Given the description of an element on the screen output the (x, y) to click on. 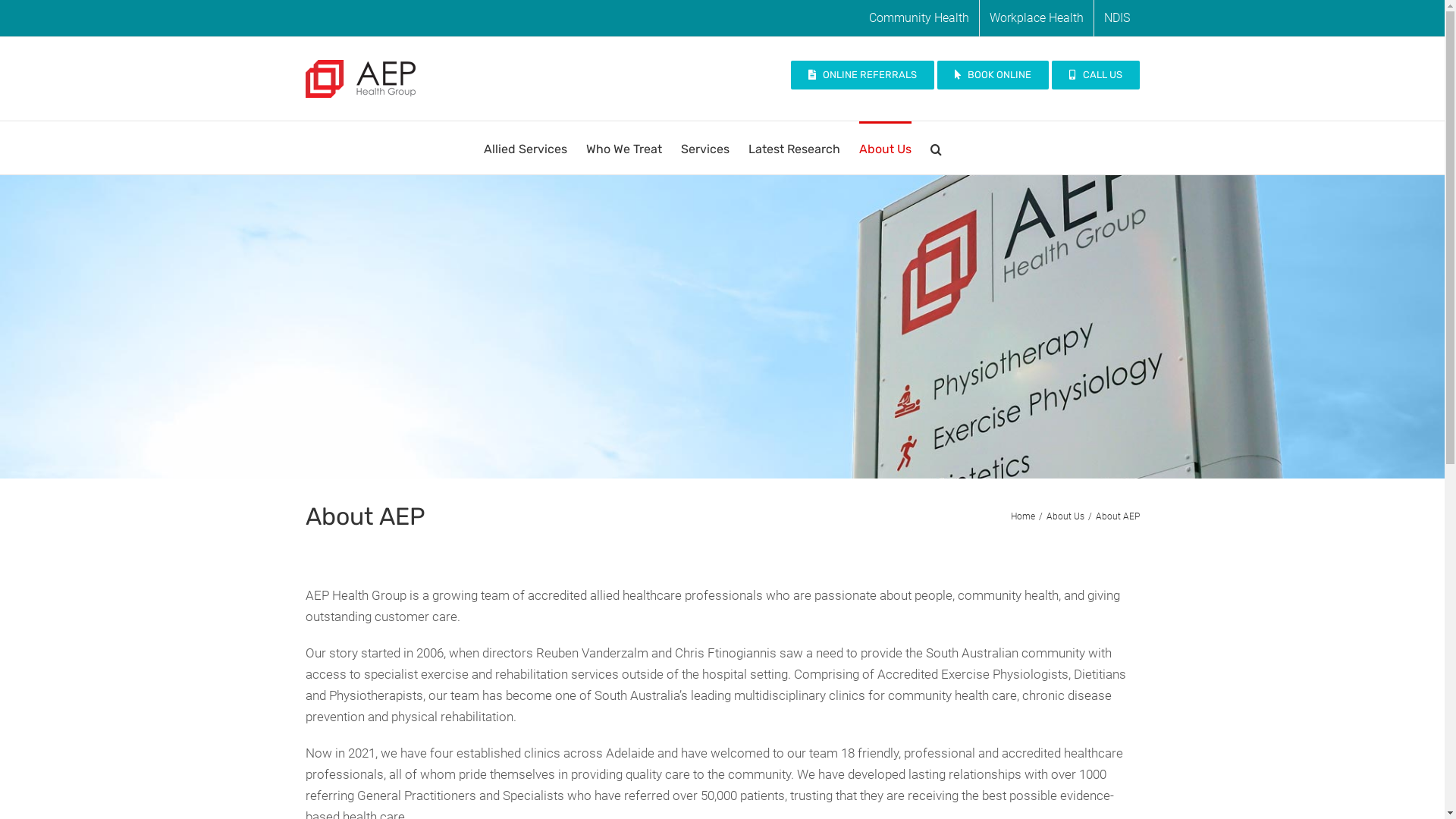
NDIS Element type: text (1116, 18)
About Us Element type: text (1065, 516)
Community Health Element type: text (918, 18)
Latest Research Element type: text (794, 147)
Allied Services Element type: text (525, 147)
ONLINE REFERRALS Element type: text (862, 74)
Services Element type: text (704, 147)
Home Element type: text (1022, 516)
About Us Element type: text (885, 147)
Workplace Health Element type: text (1036, 18)
Who We Treat Element type: text (624, 147)
CALL US Element type: text (1095, 74)
BOOK ONLINE Element type: text (992, 74)
Search Element type: hover (935, 147)
